Given the description of an element on the screen output the (x, y) to click on. 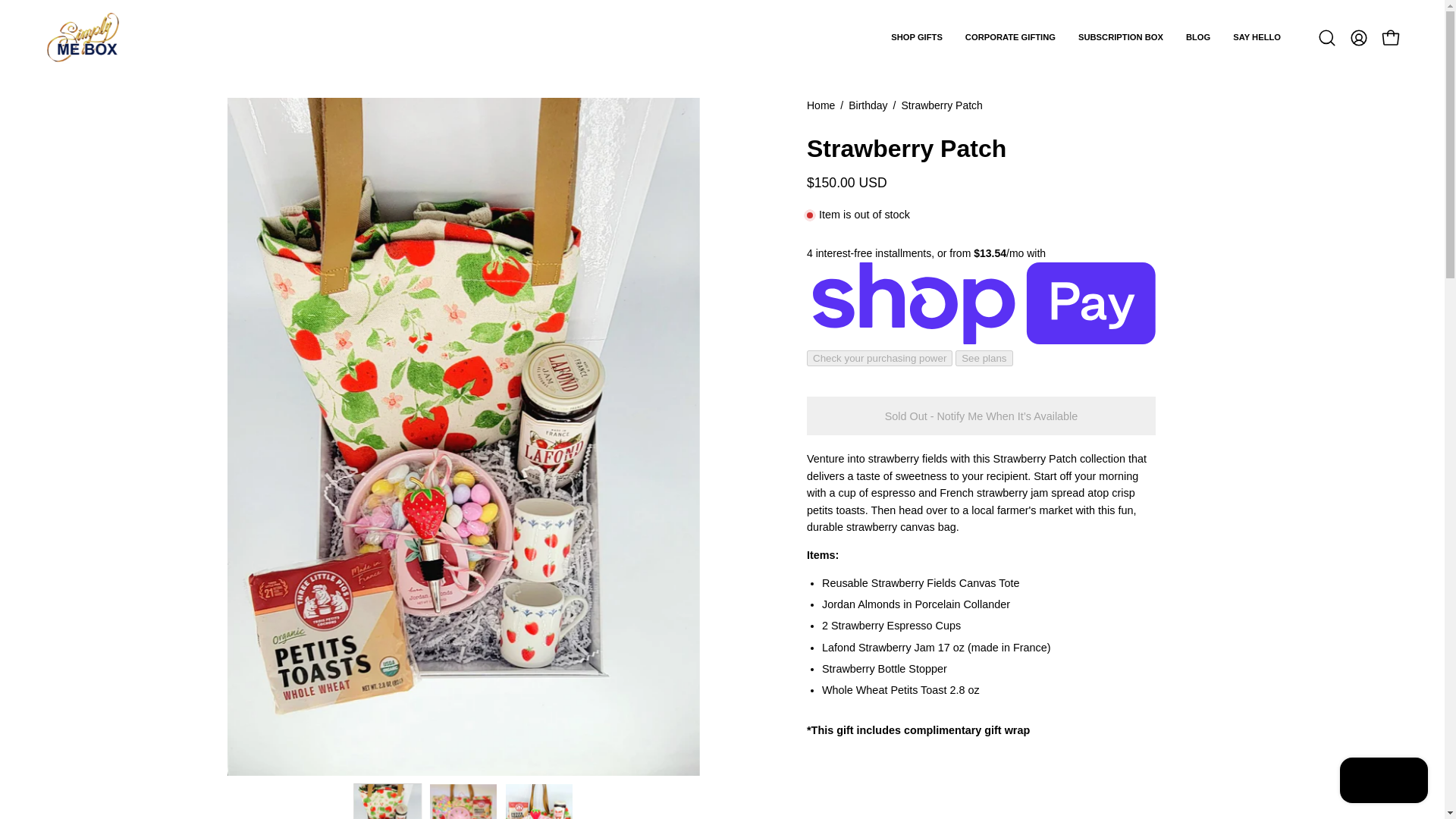
View Simply Me Box on Facebook (273, 725)
Open search bar (1326, 37)
Go back to Home page (820, 105)
View Simply Me Box on Instagram (238, 725)
